Given the description of an element on the screen output the (x, y) to click on. 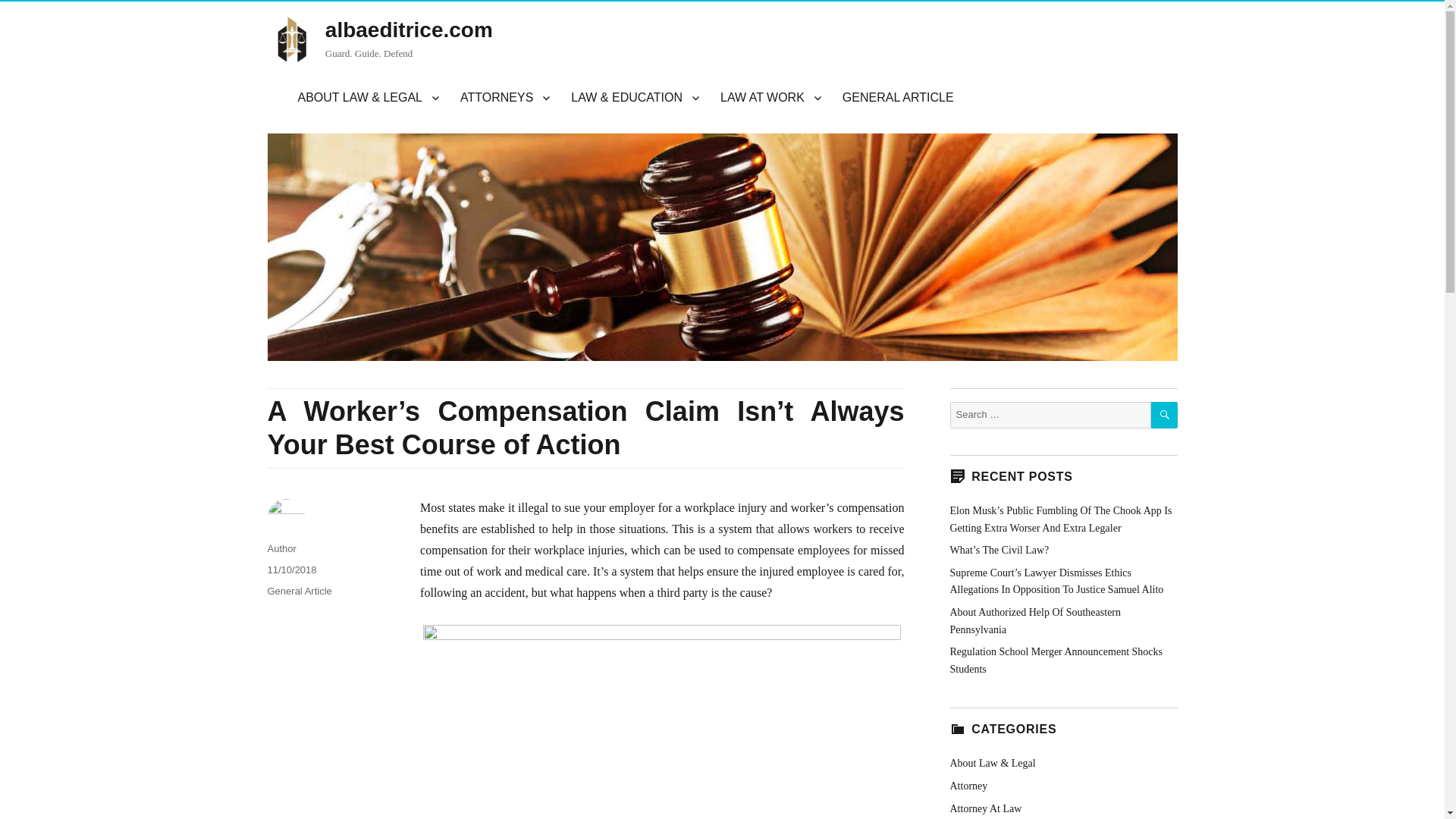
General Article (298, 591)
SEARCH (1164, 415)
LAW AT WORK (770, 97)
Author (280, 548)
albaeditrice.com (408, 29)
GENERAL ARTICLE (897, 97)
ATTORNEYS (504, 97)
Search for: (1049, 415)
